Given the description of an element on the screen output the (x, y) to click on. 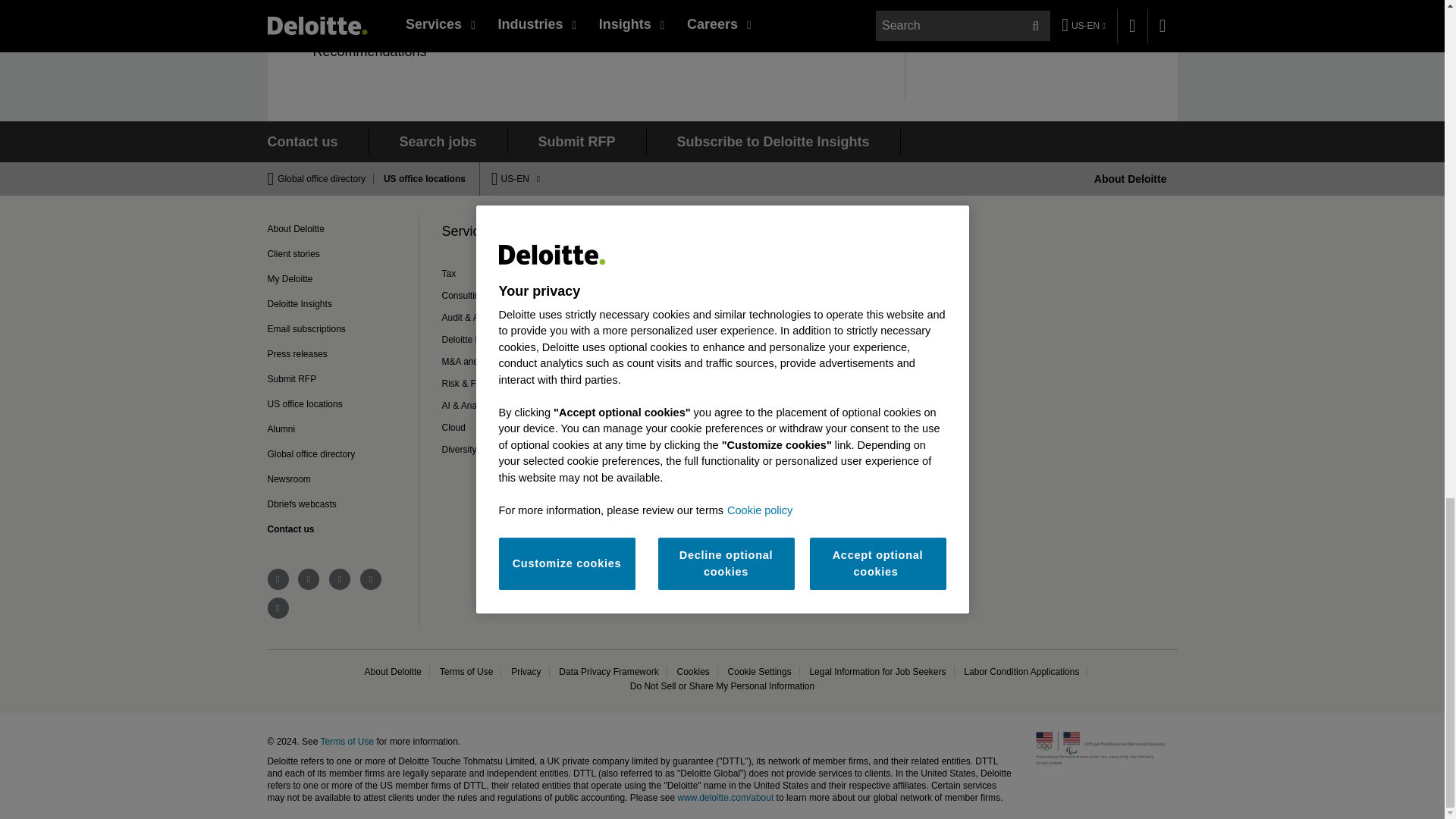
About Deloitte (1130, 178)
check deloitte us out on glassdoor (370, 578)
view deloitte us on youtube (339, 578)
follow deloitte us on instagram (277, 608)
connect with deloitte on linkedin (308, 578)
US office locations (420, 178)
Global office directory (326, 178)
follow deloitte us on twitter (277, 578)
